Given the description of an element on the screen output the (x, y) to click on. 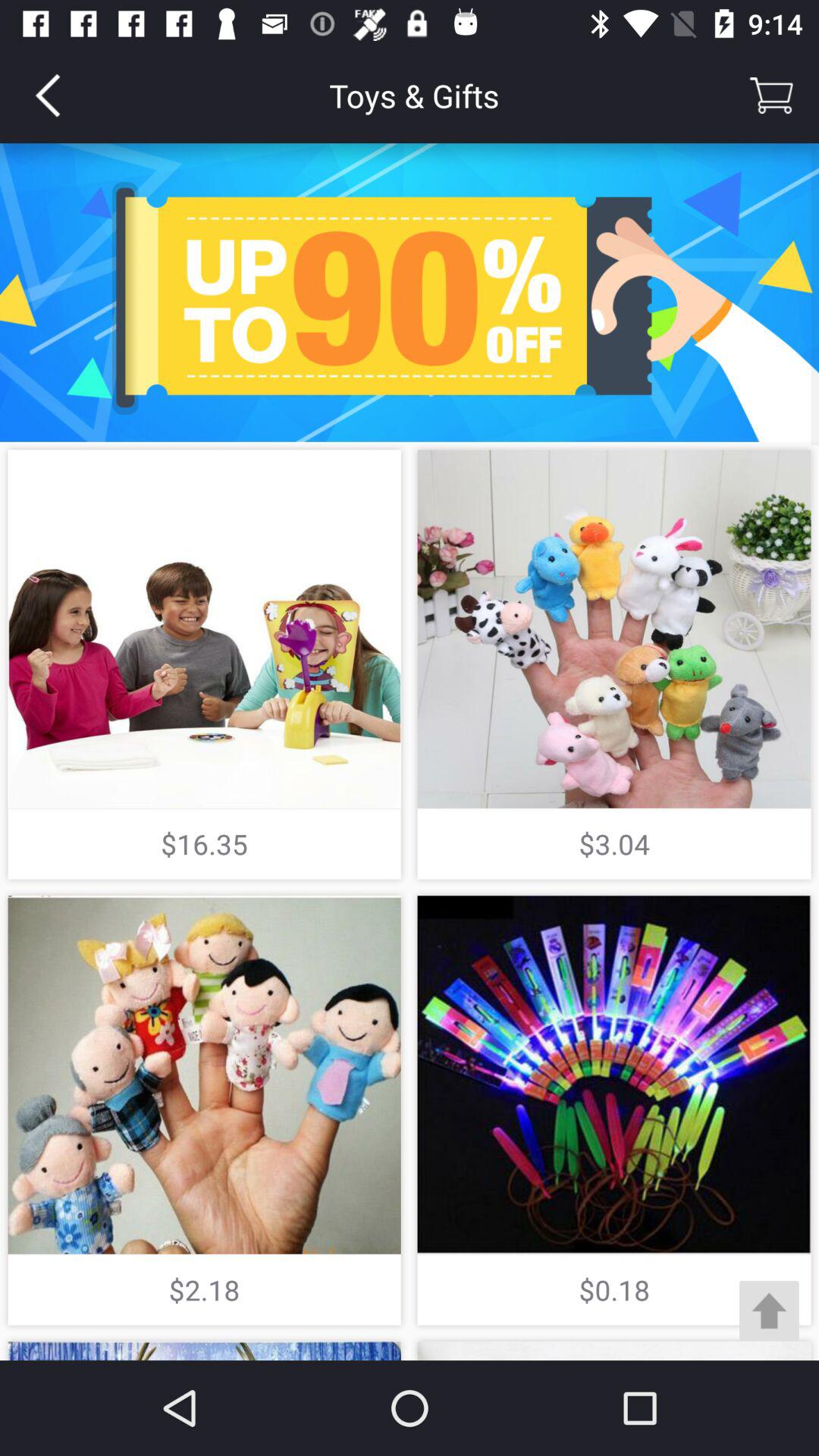
press item to the left of toys & gifts item (47, 95)
